Given the description of an element on the screen output the (x, y) to click on. 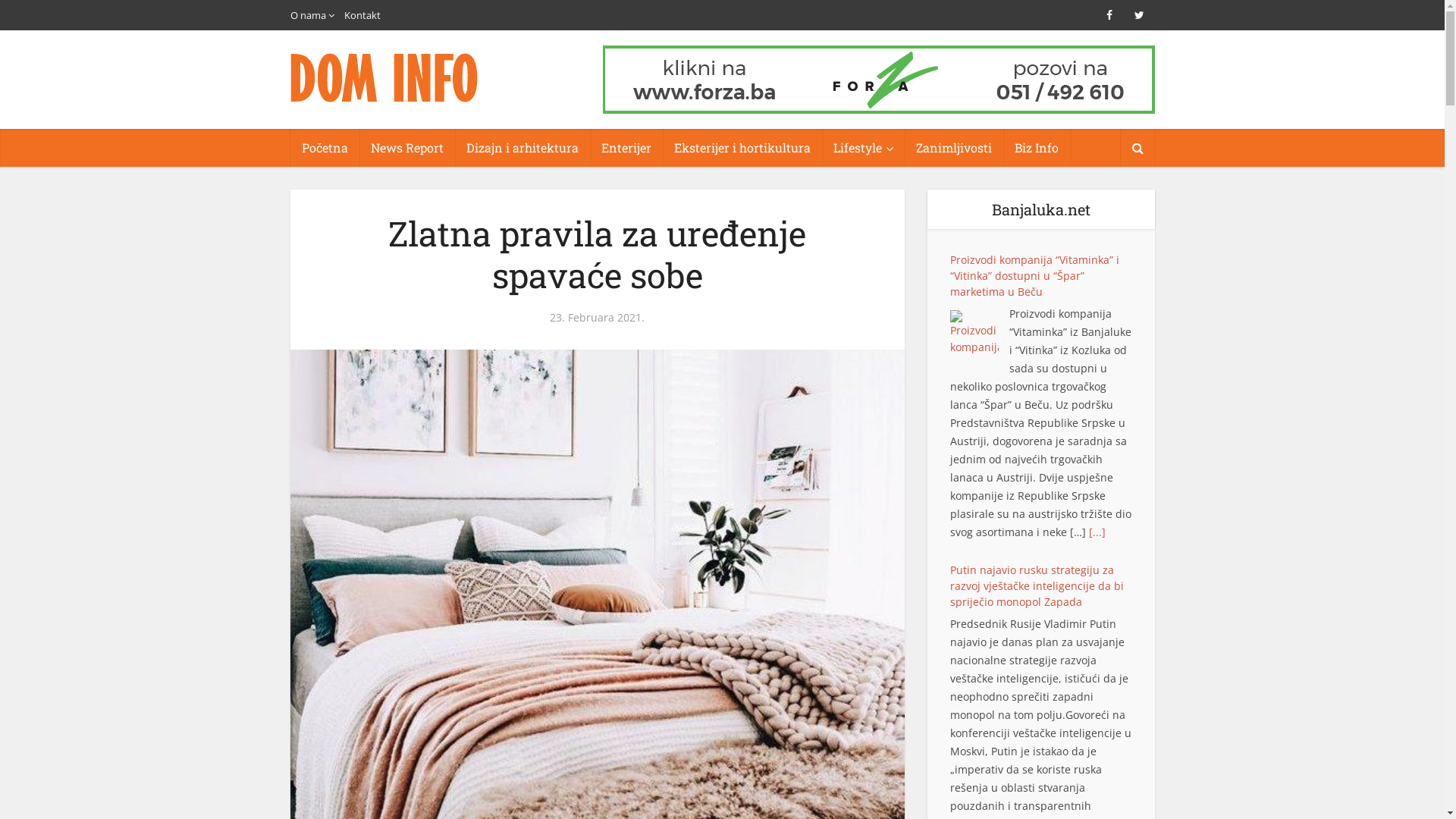
O nama Element type: text (307, 14)
Lifestyle Element type: text (863, 147)
DOM INFO | Element type: hover (384, 77)
Zanimljivosti Element type: text (952, 147)
[...] Element type: text (1016, 479)
News Report Element type: text (407, 147)
Enterijer Element type: text (625, 147)
Biz Info Element type: text (1035, 147)
Dizajn i arhitektura Element type: text (522, 147)
Eksterijer i hortikultura Element type: text (742, 147)
[...] Element type: text (1096, 789)
Kontakt Element type: text (362, 14)
